Given the description of an element on the screen output the (x, y) to click on. 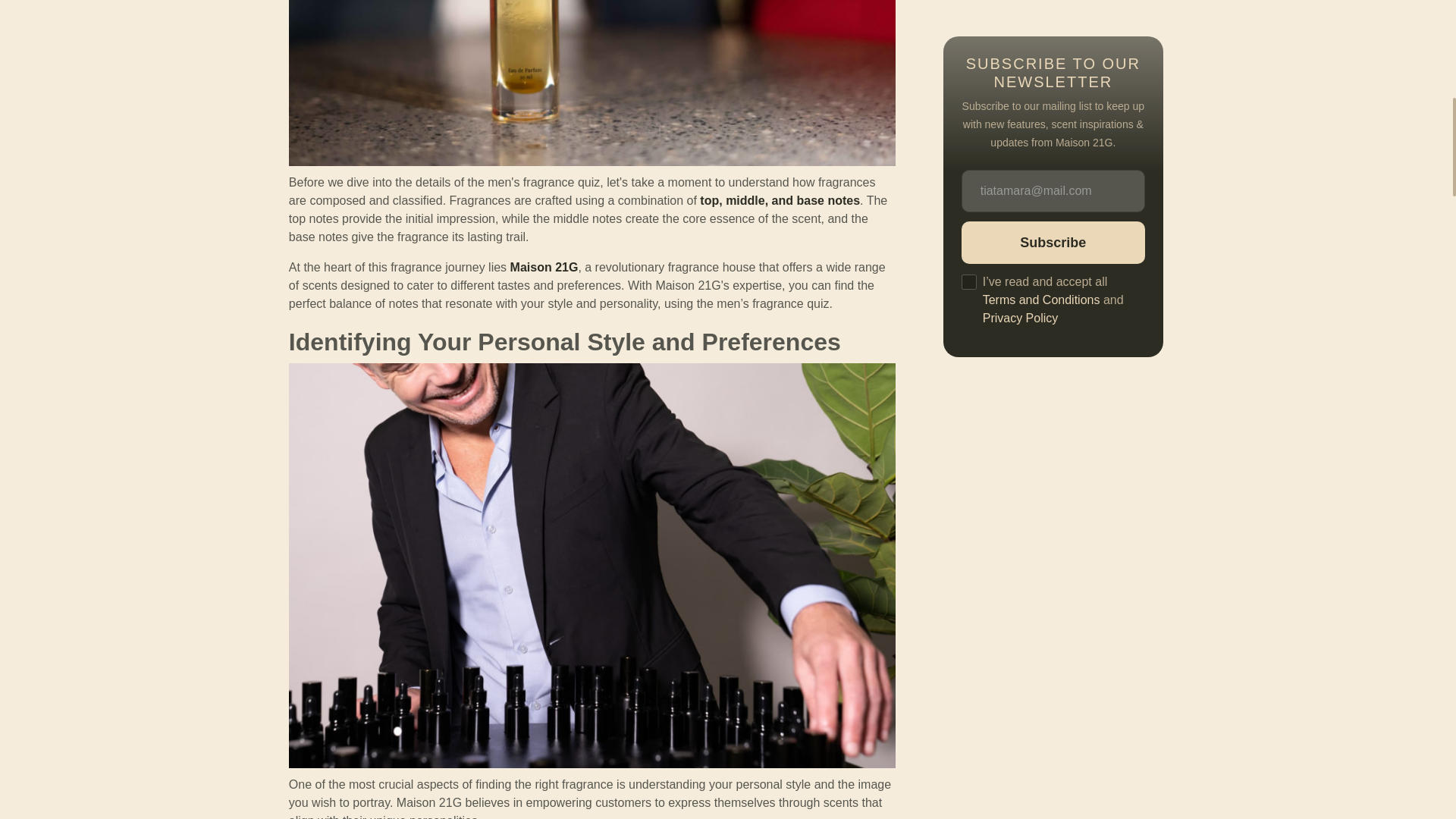
top, middle, and base notes (780, 200)
Maison 21G (544, 267)
